Given the description of an element on the screen output the (x, y) to click on. 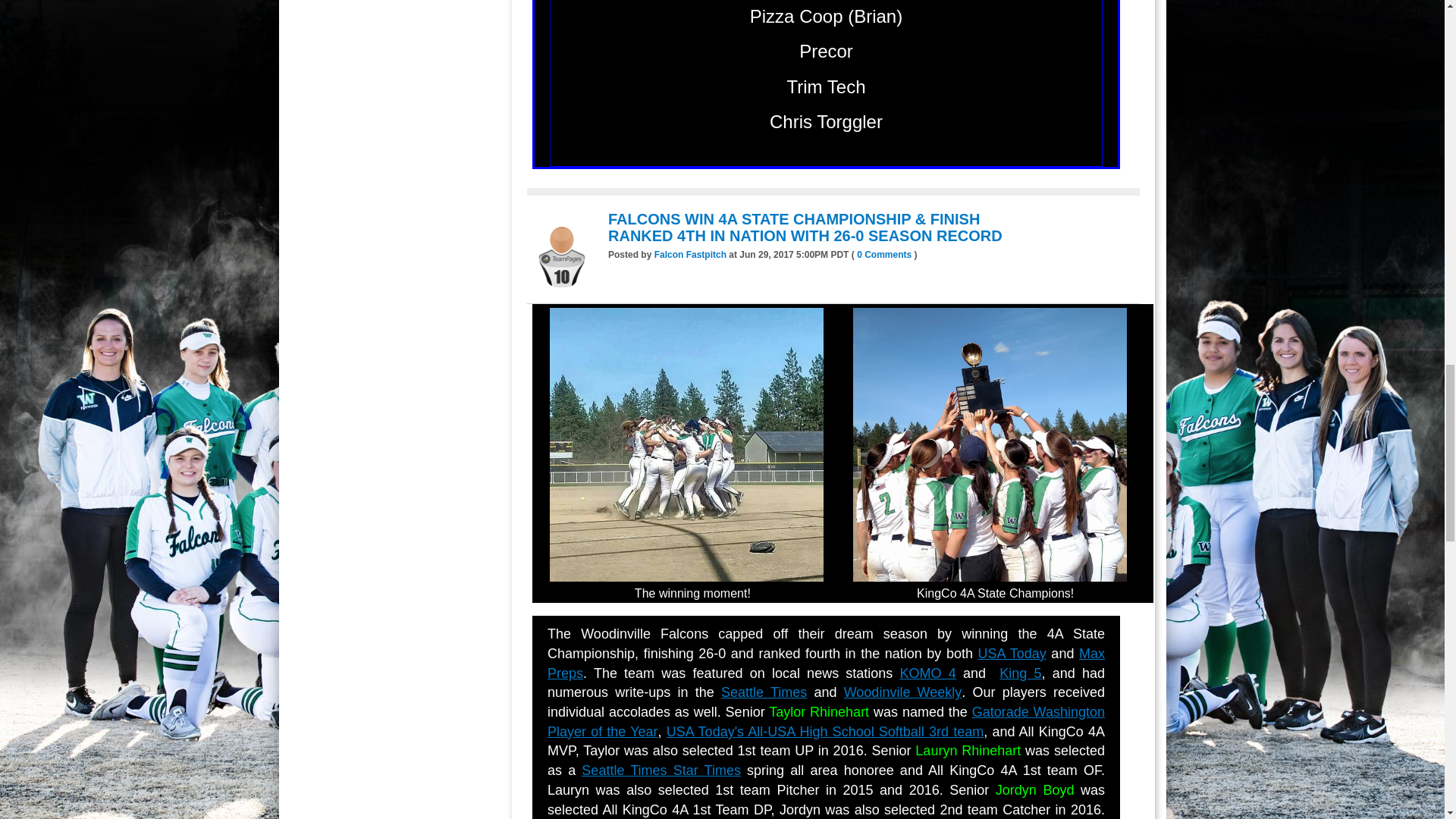
USA Today (1012, 653)
Max Preps (826, 663)
Woodinville Weekly (903, 692)
Seattle Times (763, 692)
King 5 (1019, 672)
